Given the description of an element on the screen output the (x, y) to click on. 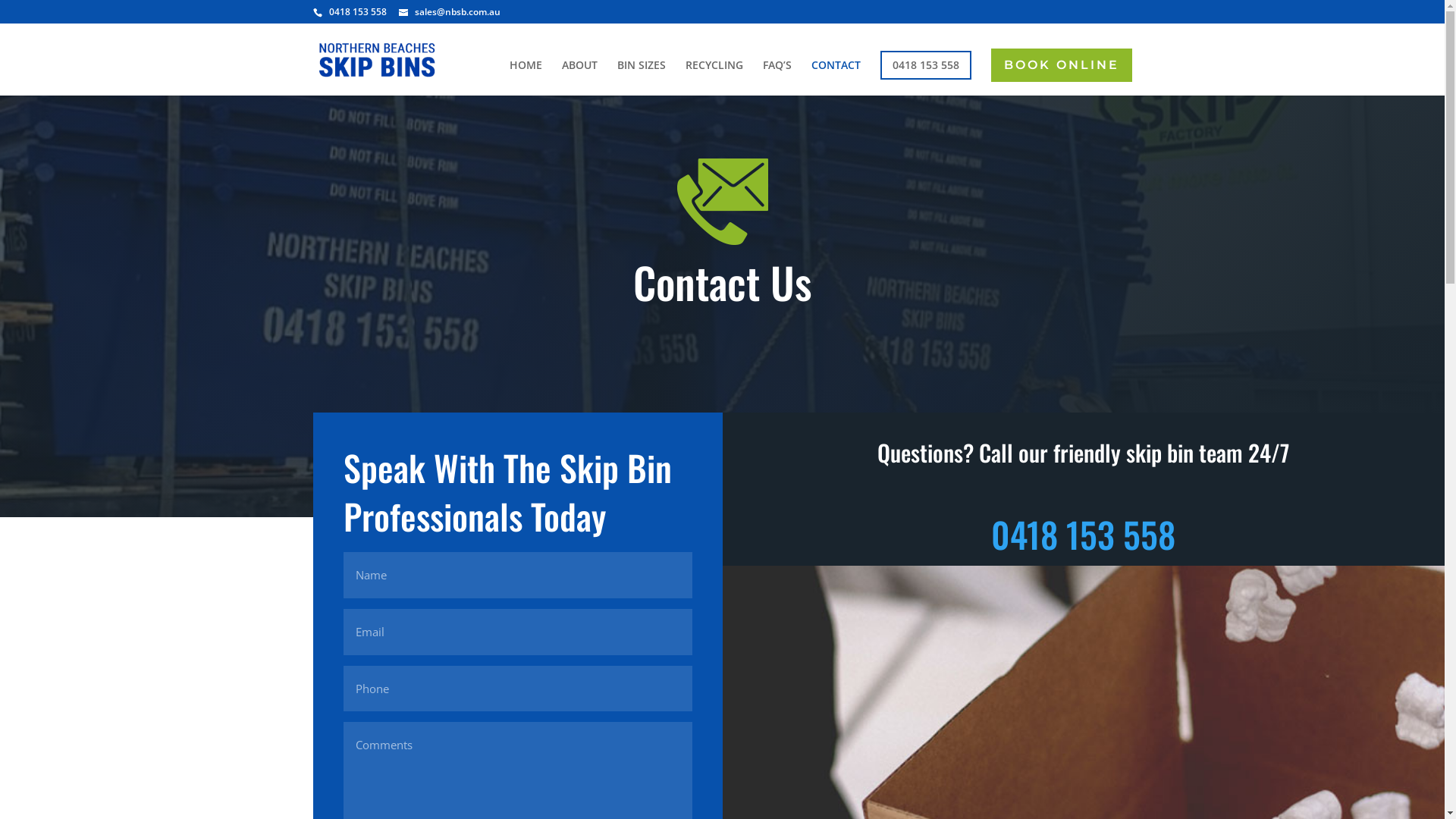
RECYCLING Element type: text (714, 77)
0418 153 558 Element type: text (357, 11)
0418 153 558 Element type: text (924, 64)
sales@nbsb.com.au Element type: text (449, 11)
CONTACT Element type: text (835, 77)
0418 153 558 Element type: text (1083, 533)
HOME Element type: text (525, 77)
BIN SIZES Element type: text (641, 77)
ABOUT Element type: text (578, 77)
BOOK ONLINE Element type: text (1060, 64)
